Given the description of an element on the screen output the (x, y) to click on. 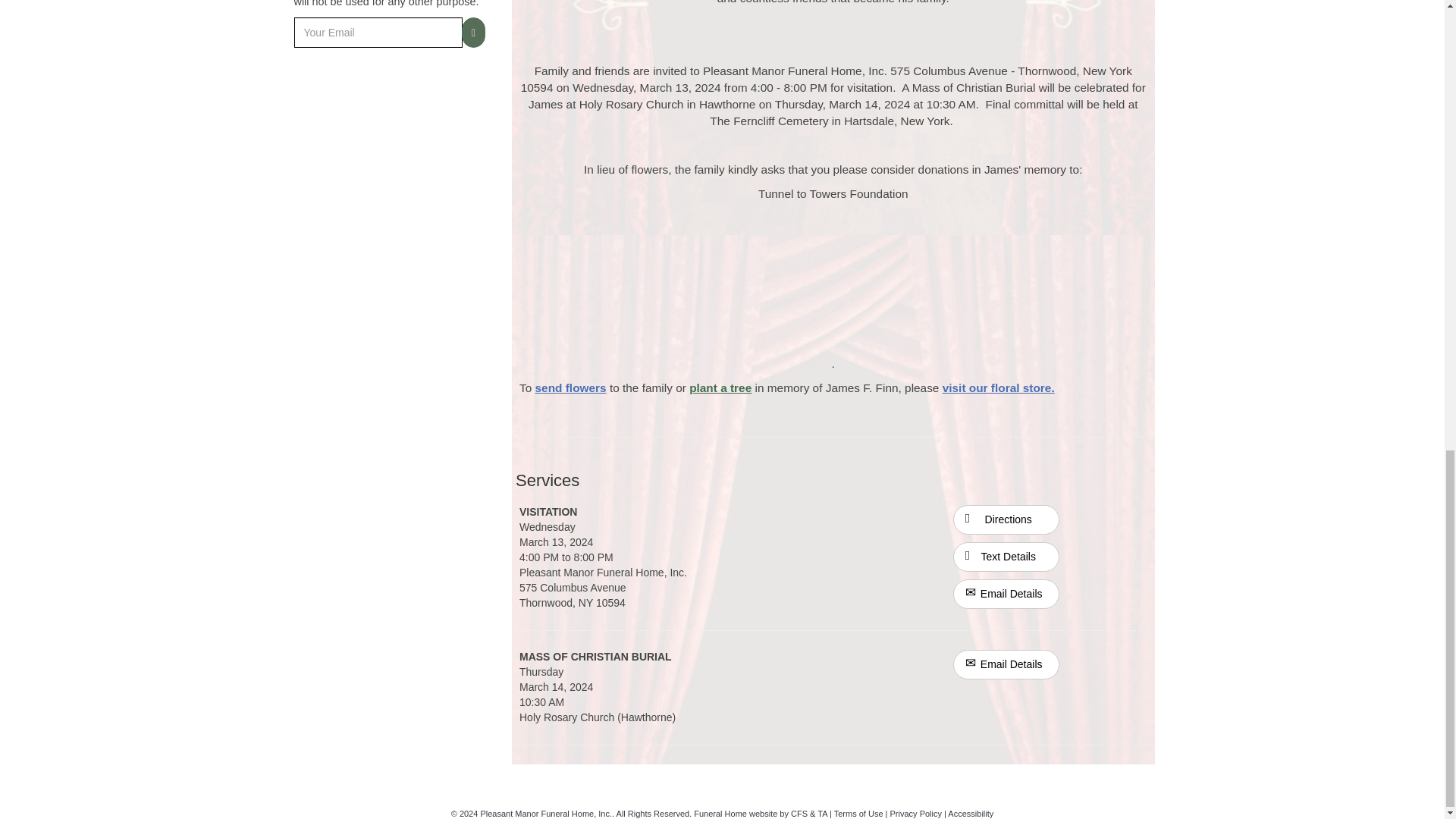
Email Details (1006, 664)
CFS (799, 813)
Terms of Use (858, 813)
send flowers (571, 387)
Privacy Policy (915, 813)
Text Details (1006, 556)
TA (821, 813)
visit our floral store. (998, 387)
Email Details (1006, 594)
Directions (1006, 518)
